Given the description of an element on the screen output the (x, y) to click on. 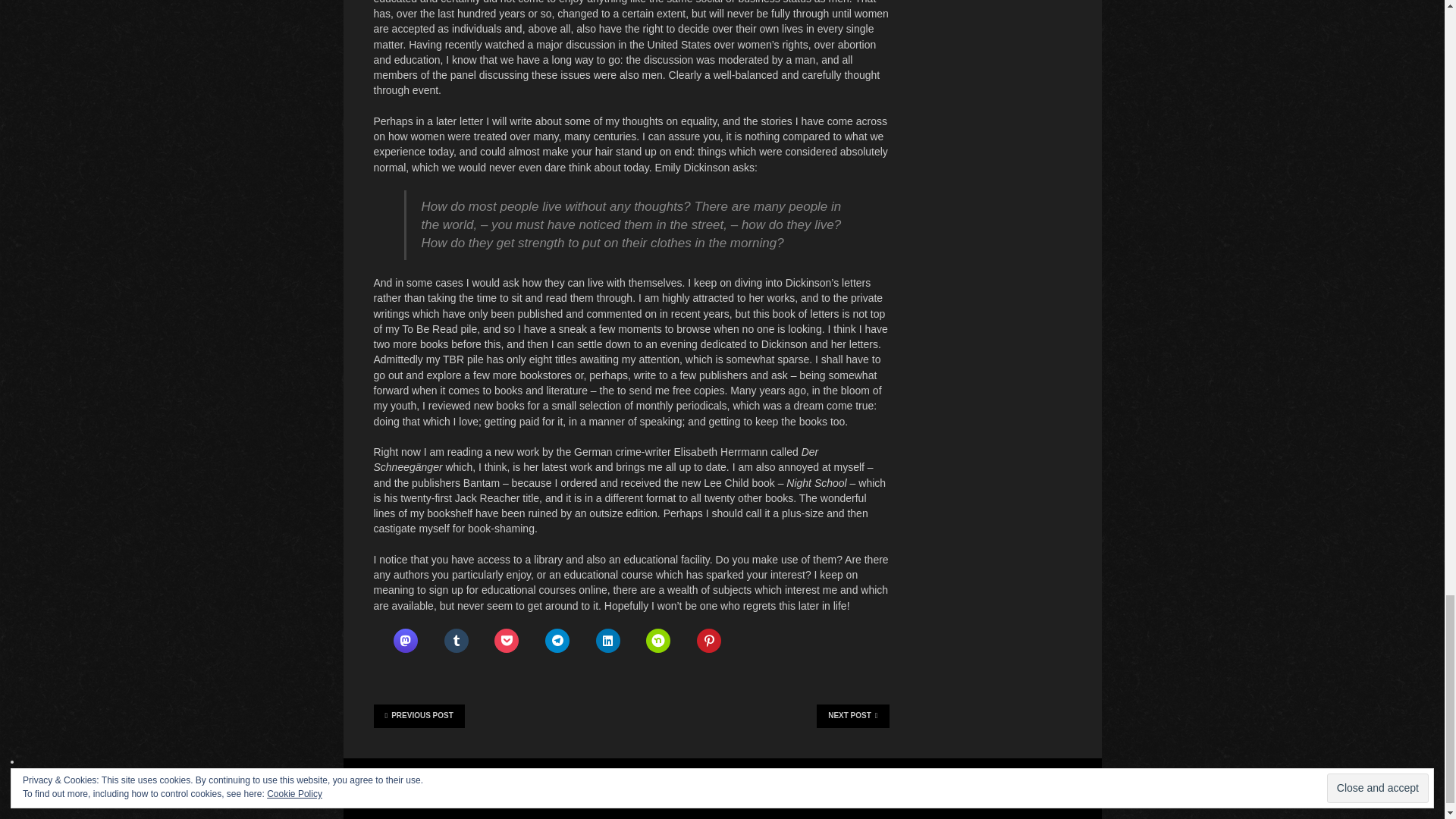
Click to share on Pocket (506, 640)
Click to share on Tumblr (456, 640)
Click to share on Pinterest (708, 640)
Click to share on LinkedIn (607, 640)
Click to share on Mastodon (405, 640)
NEXT POST (852, 715)
Semantic Personal Publishing Platform (641, 780)
Click to share on Nextdoor (657, 640)
PREVIOUS POST (418, 715)
Click to share on Telegram (556, 640)
Free and Premium WordPress Themes (433, 795)
